Given the description of an element on the screen output the (x, y) to click on. 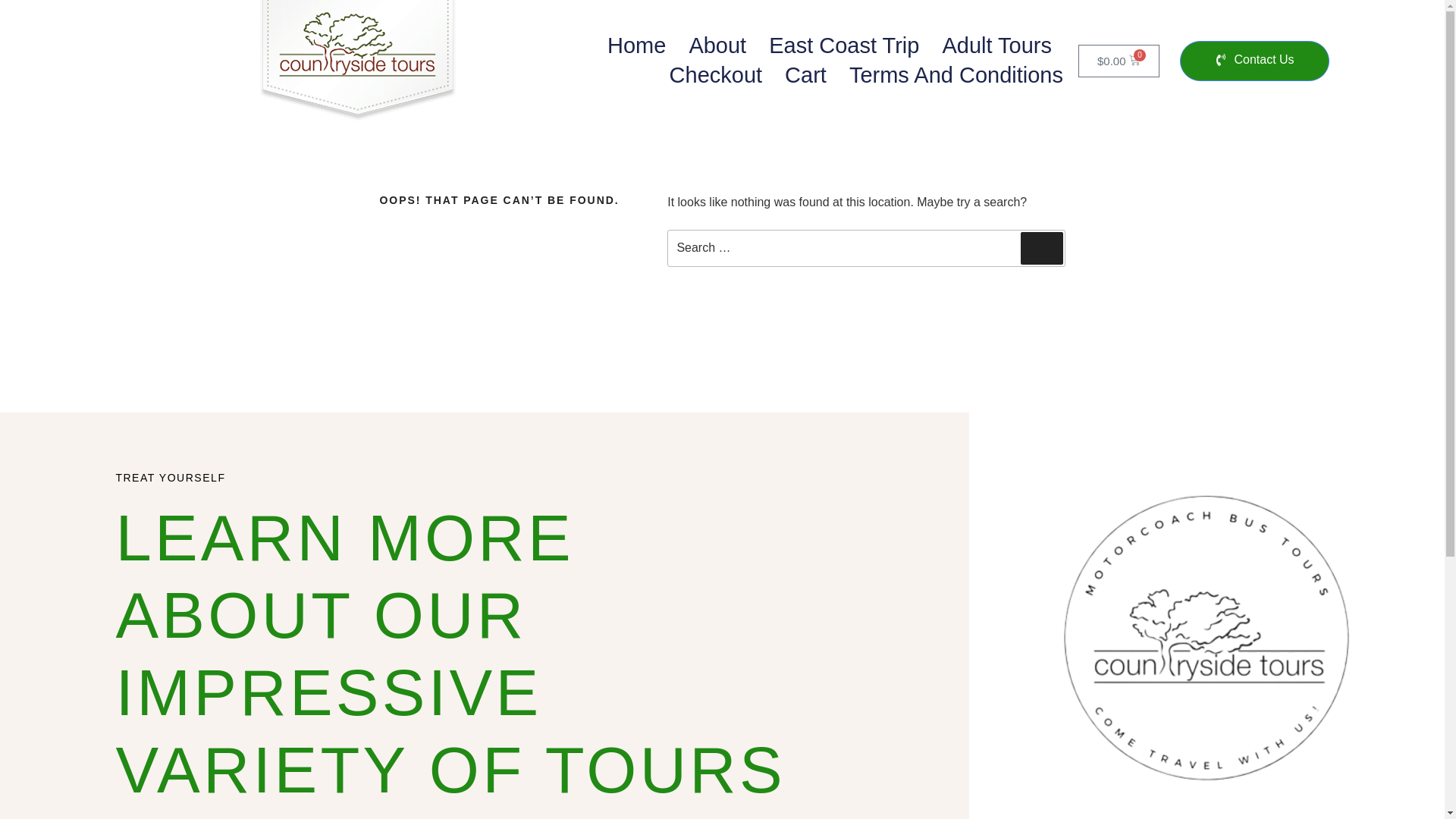
Checkout (715, 75)
Contact Us (1253, 60)
About (716, 45)
Terms And Conditions (955, 75)
East Coast Trip (843, 45)
Home (636, 45)
Adult Tours (996, 45)
Cart (805, 75)
